Given the description of an element on the screen output the (x, y) to click on. 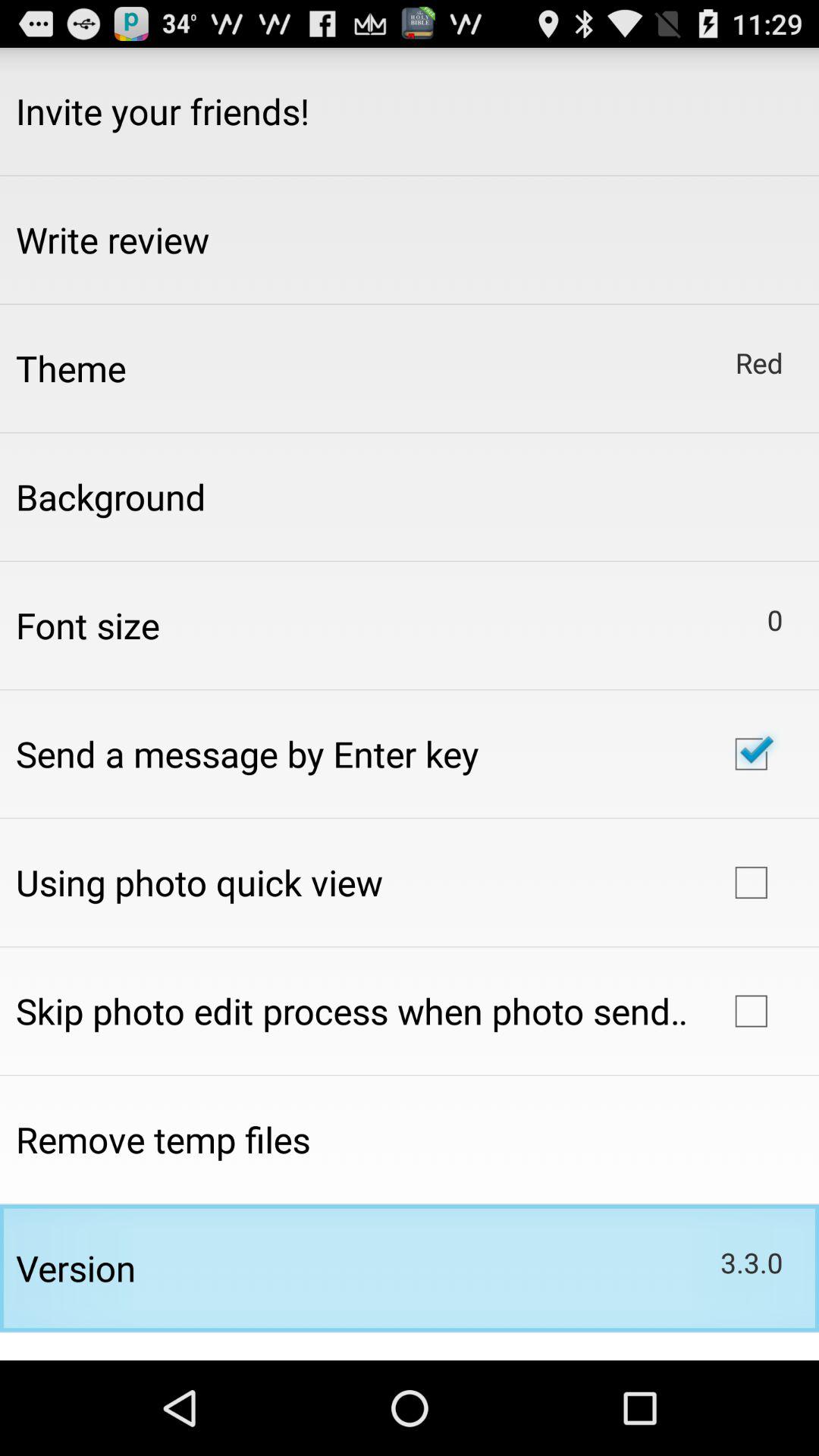
select send a message item (246, 753)
